Given the description of an element on the screen output the (x, y) to click on. 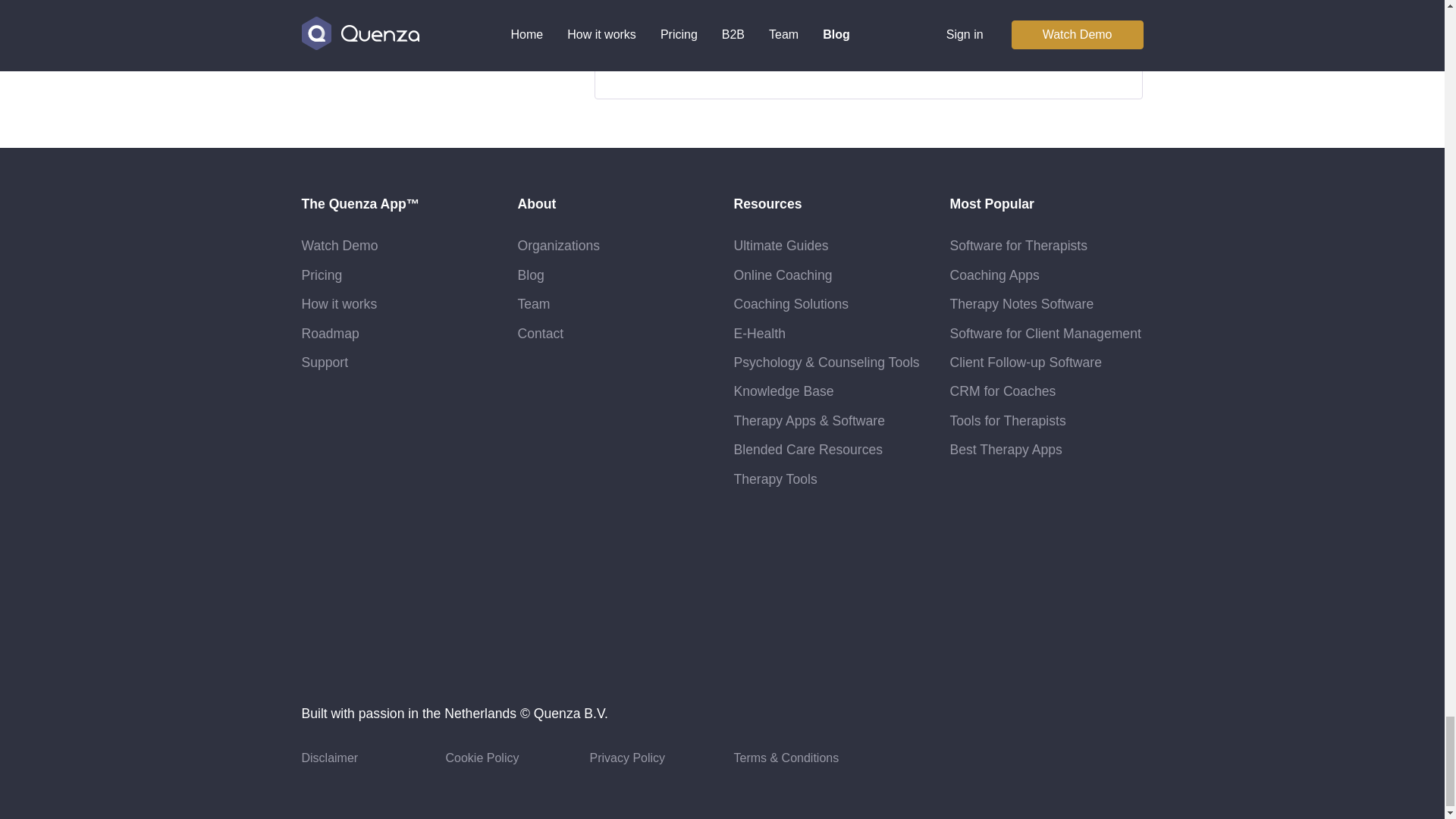
VIEW PROFILE (684, 62)
Watch Demo (339, 245)
Pricing (321, 274)
How it works (339, 304)
Roadmap (330, 333)
Support (325, 362)
Organizations (557, 245)
